Given the description of an element on the screen output the (x, y) to click on. 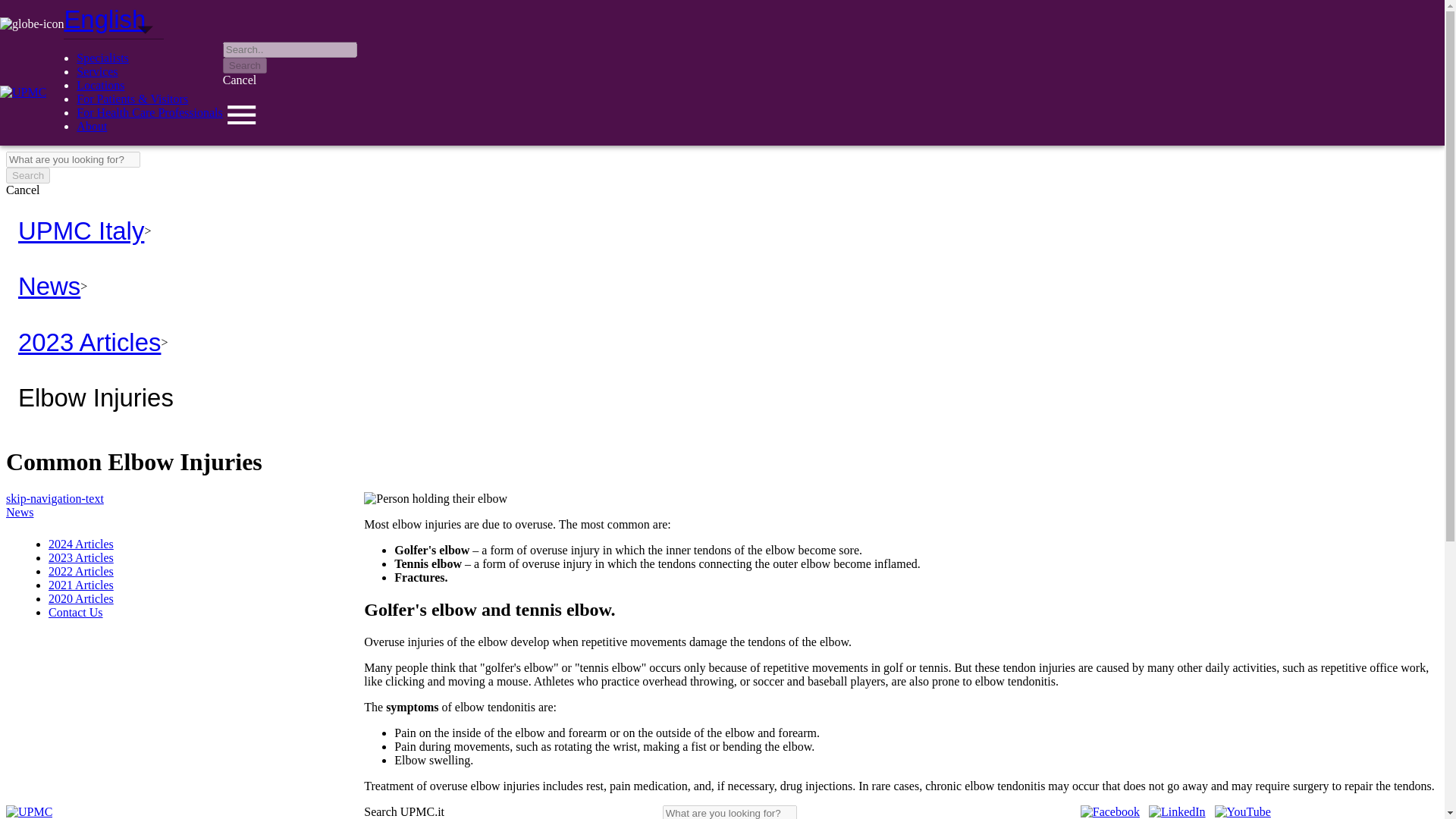
2023 Articles (88, 342)
UPMC (28, 811)
2022 Articles (80, 571)
Search (27, 175)
skip-to-content-text (53, 11)
2023 Articles (80, 557)
News (19, 512)
Search (244, 65)
UPMC Italy (80, 230)
Specialists (102, 57)
English (110, 39)
Services (97, 71)
For Health Care Professionals (149, 112)
Contact Us (75, 612)
Search (27, 175)
